Given the description of an element on the screen output the (x, y) to click on. 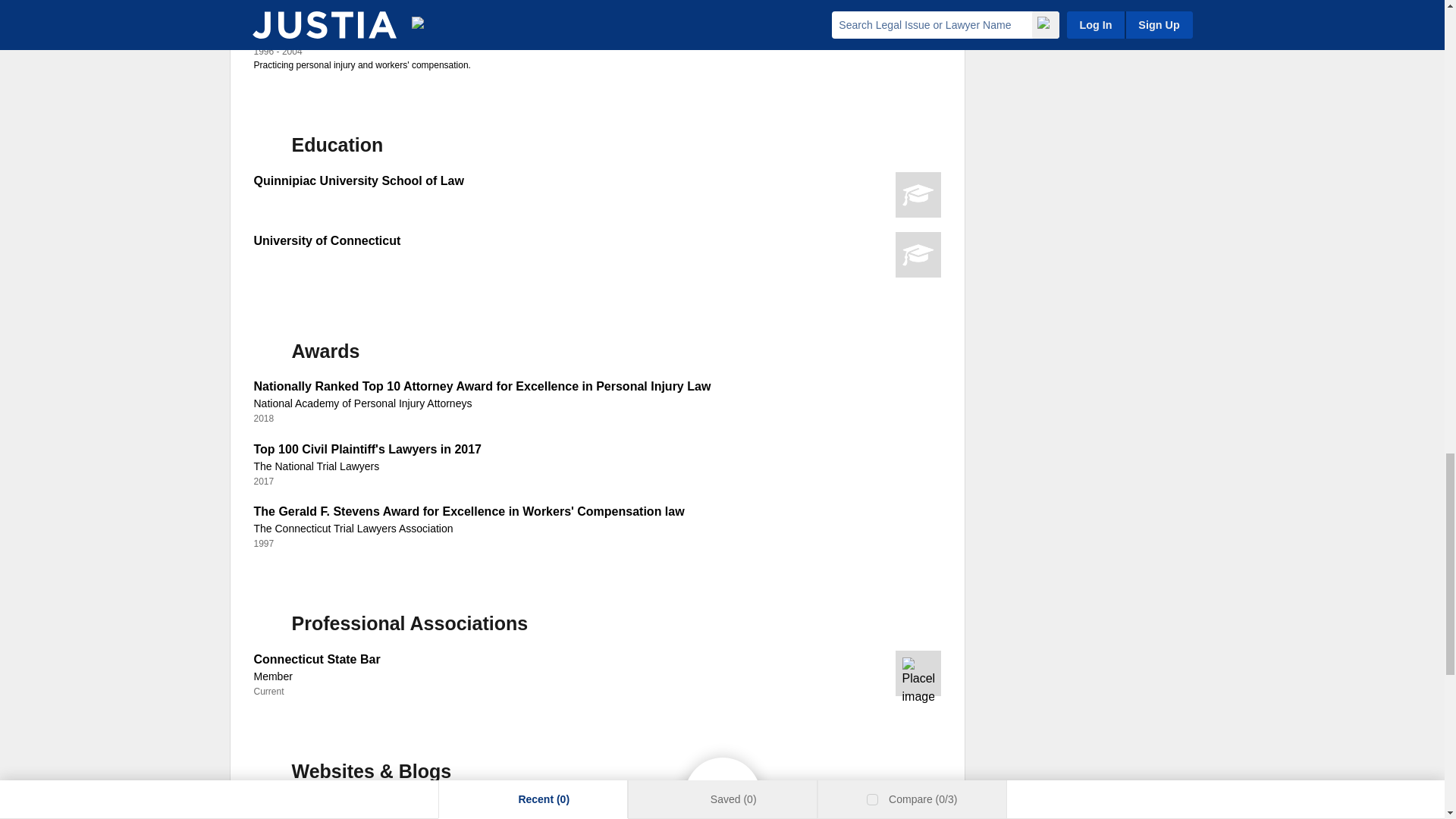
Website (276, 805)
